Given the description of an element on the screen output the (x, y) to click on. 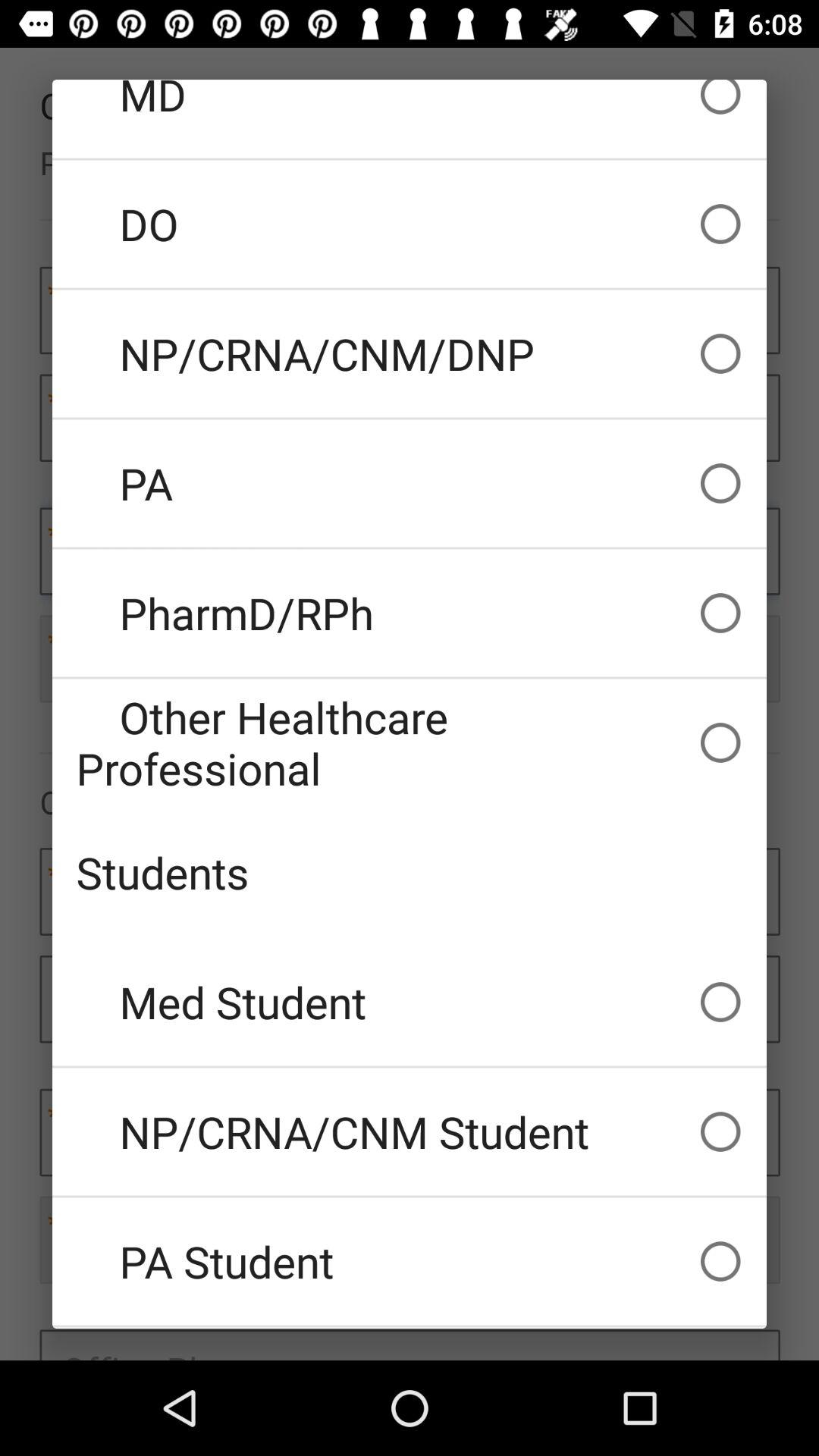
choose item above     med student (409, 872)
